Given the description of an element on the screen output the (x, y) to click on. 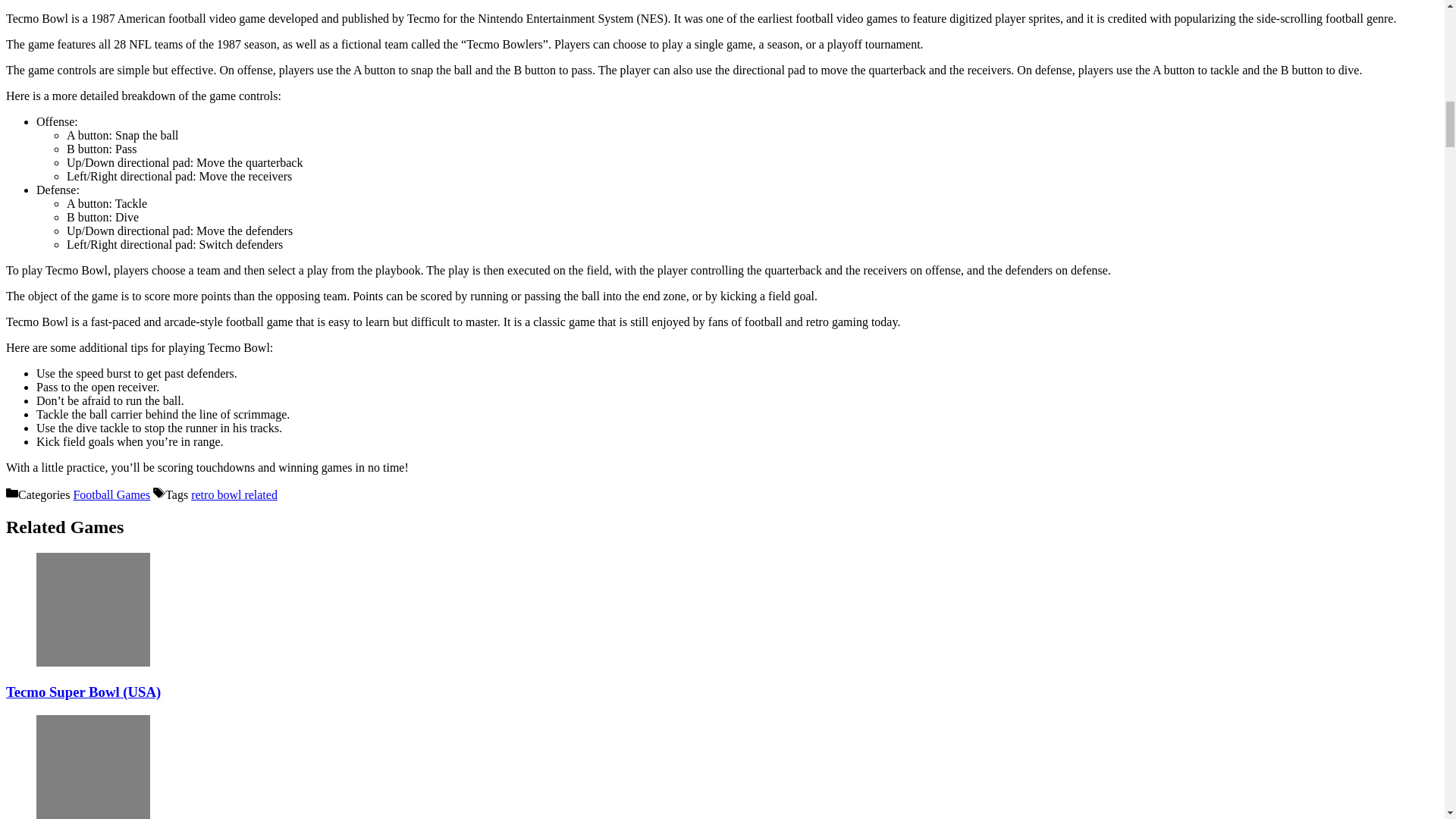
Retro Bowl Fan-made (92, 766)
Football Games (110, 494)
retro bowl related (234, 494)
